Given the description of an element on the screen output the (x, y) to click on. 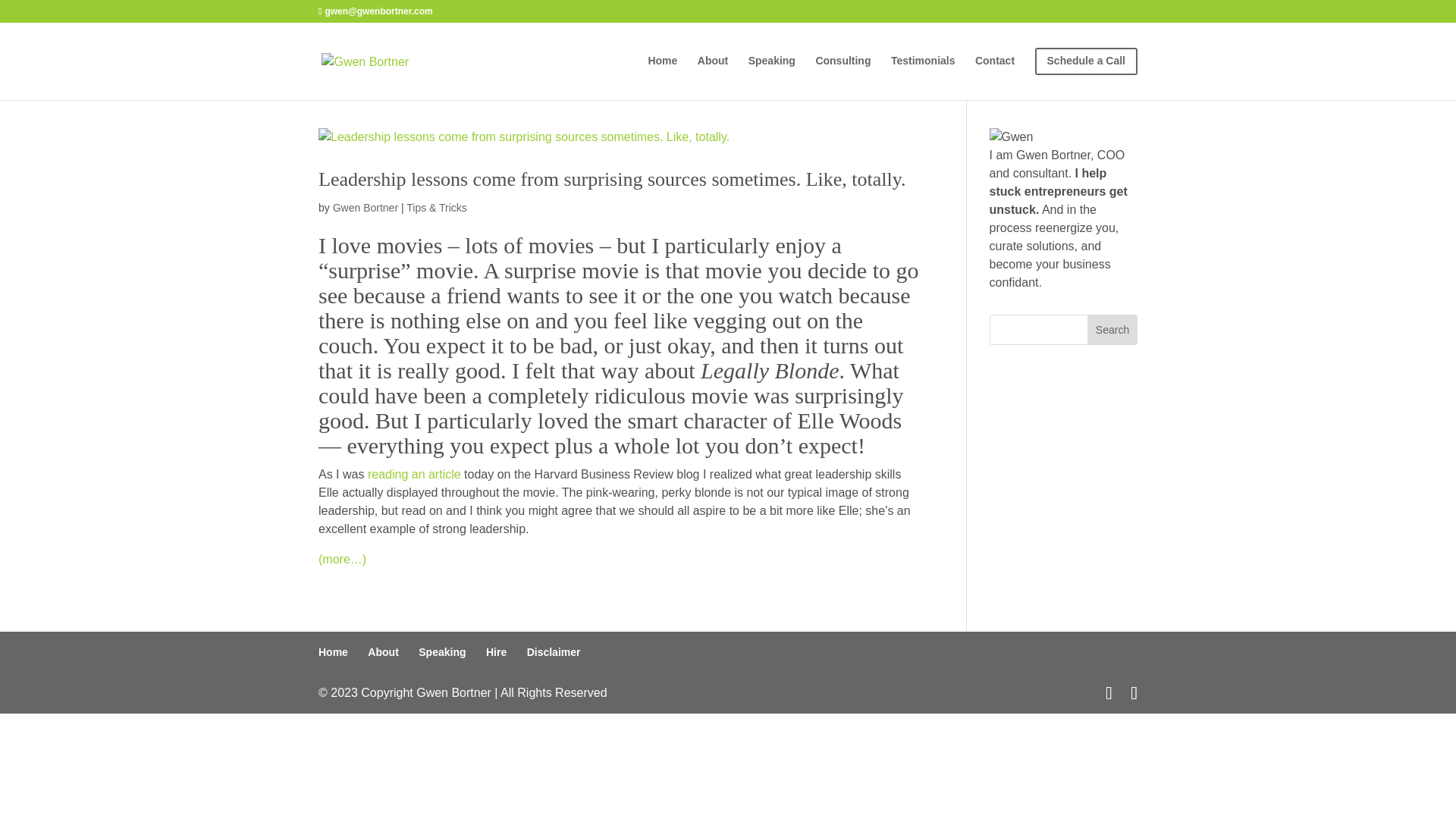
About (382, 652)
Speaking (442, 652)
Contact (994, 72)
Search (1112, 329)
Home (332, 652)
Hire (496, 652)
Testimonials (923, 72)
Disclaimer (553, 652)
Search (1112, 329)
Schedule a Call (1086, 73)
Gwen Bortner (365, 207)
Posts by Gwen Bortner (365, 207)
Speaking (771, 72)
reading an article (414, 473)
